Given the description of an element on the screen output the (x, y) to click on. 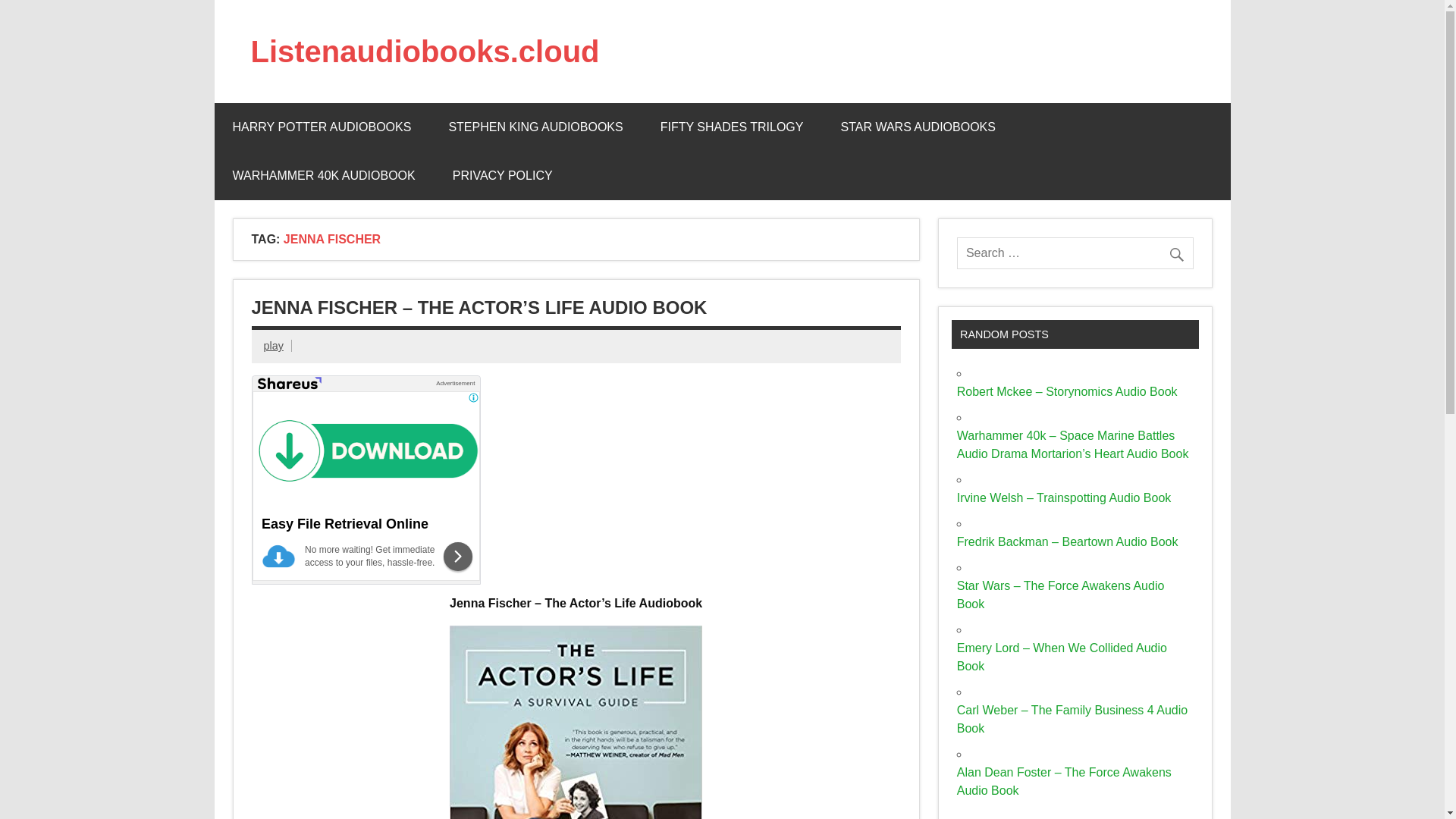
STEPHEN KING AUDIOBOOKS (534, 127)
STAR WARS AUDIOBOOKS (917, 127)
WARHAMMER 40K AUDIOBOOK (323, 175)
View all posts by play (273, 345)
FIFTY SHADES TRILOGY (732, 127)
play (273, 345)
HARRY POTTER AUDIOBOOKS (321, 127)
Listenaudiobooks.cloud (424, 51)
PRIVACY POLICY (501, 175)
